Given the description of an element on the screen output the (x, y) to click on. 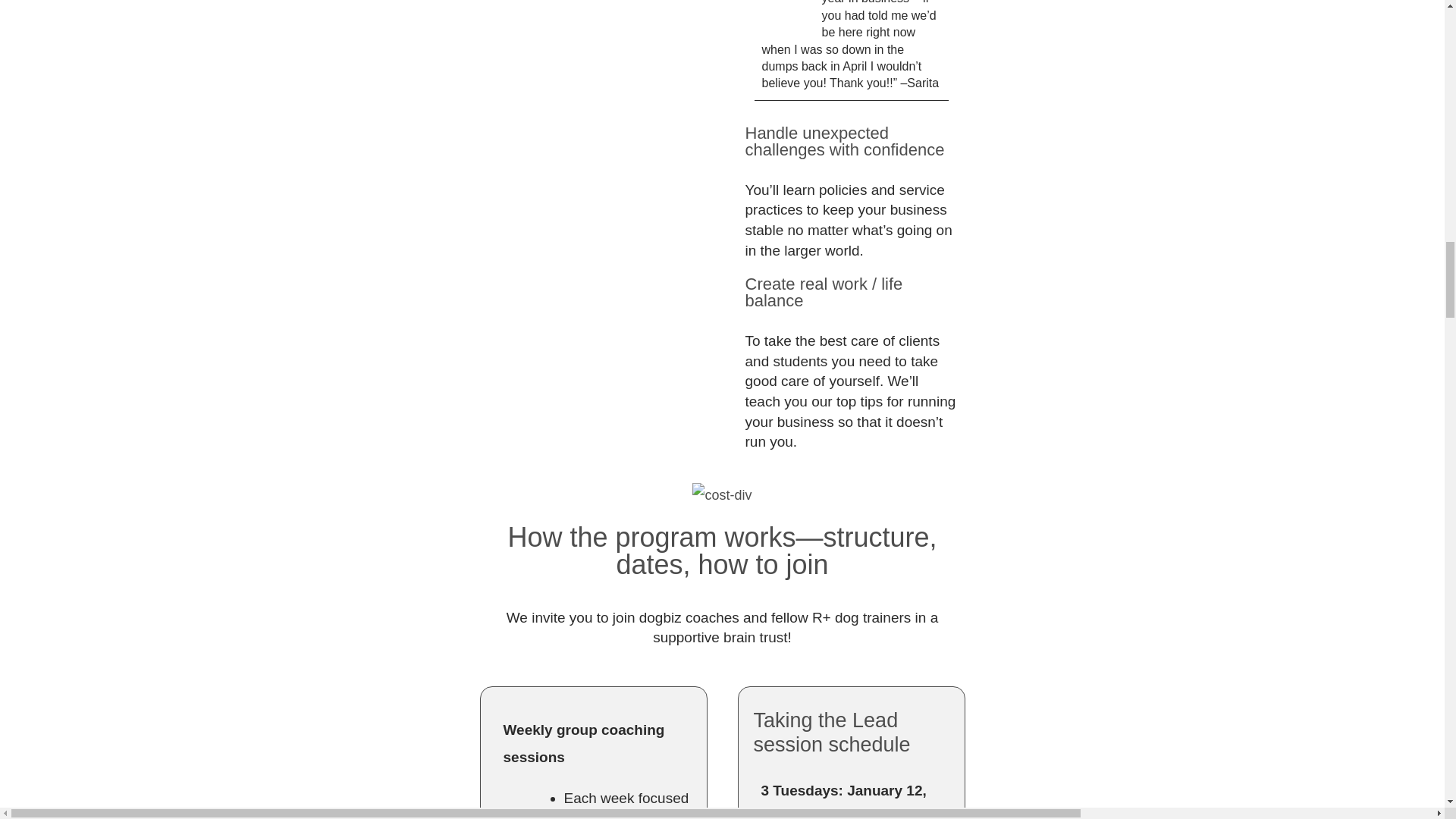
cost-div (722, 495)
